Given the description of an element on the screen output the (x, y) to click on. 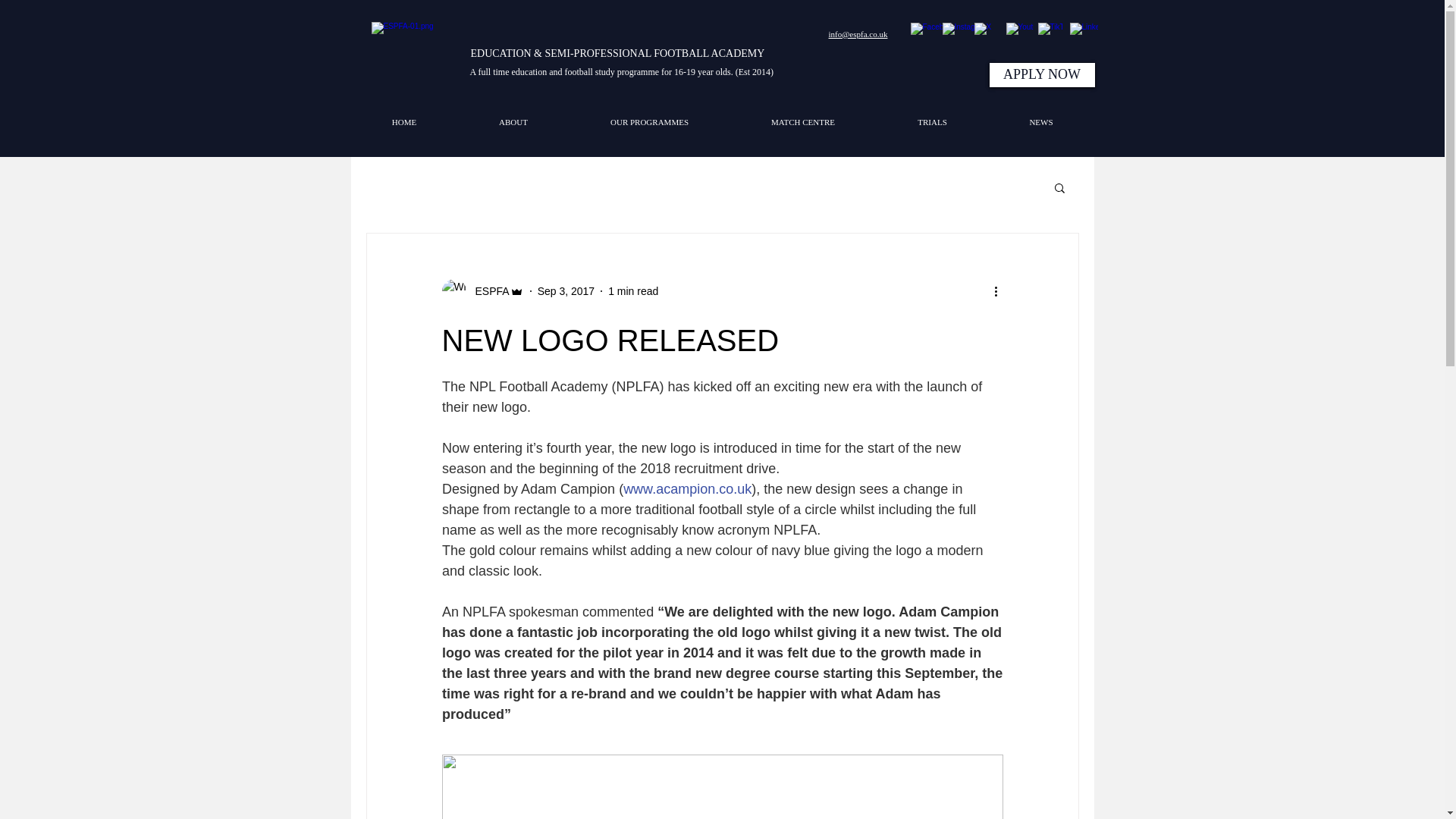
APPLY NOW (1041, 74)
TRIALS (932, 121)
OUR PROGRAMMES (649, 121)
ABOUT (513, 121)
ESPFA (486, 291)
Sep 3, 2017 (566, 291)
NEWS (1041, 121)
1 min read (633, 291)
www.acampion.co.uk (687, 488)
MATCH CENTRE (802, 121)
